Given the description of an element on the screen output the (x, y) to click on. 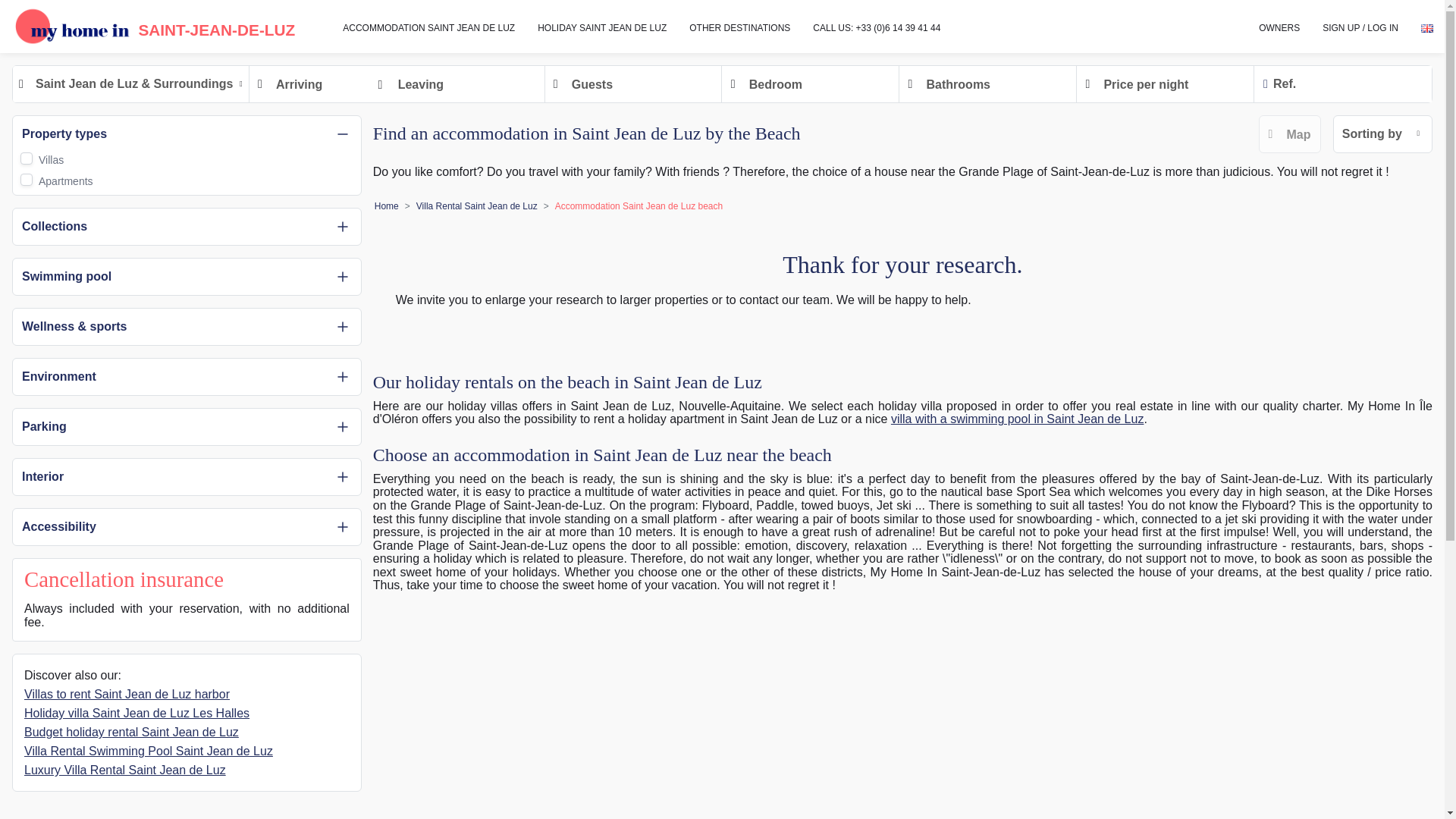
ACCOMMODATION SAINT JEAN DE LUZ (428, 26)
OTHER DESTINATIONS (740, 26)
Saint-Jean-de-Luz My Home In (147, 24)
1 (26, 158)
SAINT-JEAN-DE-LUZ (147, 24)
Saint-Jean-de-Luz My Home In  (72, 25)
1 (26, 179)
Other destinations (740, 26)
OWNERS (1279, 26)
HOLIDAY SAINT JEAN DE LUZ (601, 26)
